Given the description of an element on the screen output the (x, y) to click on. 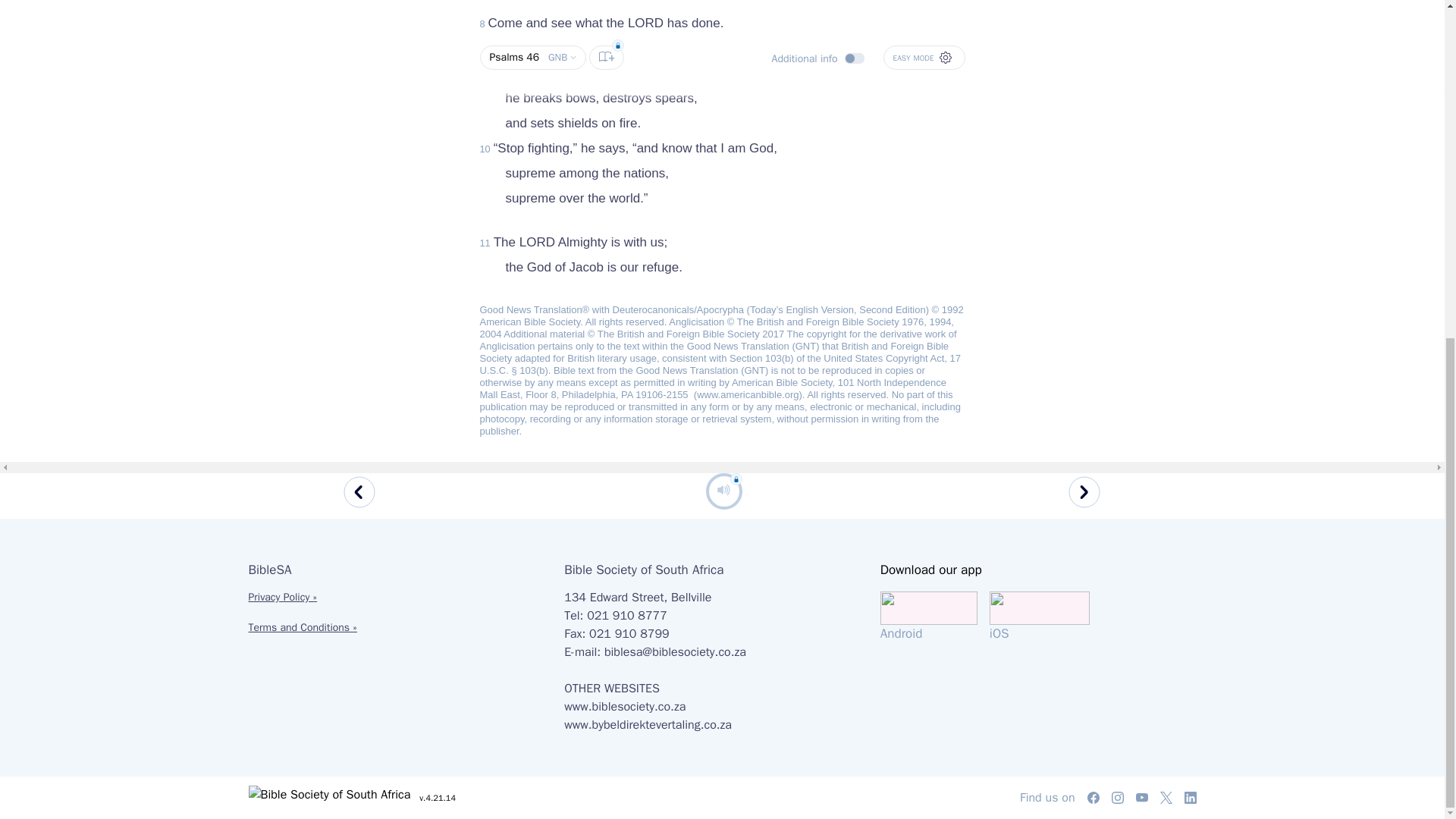
Instagram (1118, 797)
Right (1088, 224)
Facebook (1093, 797)
Twitter (1166, 797)
YouTube (1141, 797)
iOS (1039, 616)
LinkedIn (1190, 797)
previous (355, 224)
www.biblesociety.co.za (624, 706)
previous (360, 225)
Android (935, 616)
Right (1085, 225)
www.bybeldirektevertaling.co.za (648, 724)
